Given the description of an element on the screen output the (x, y) to click on. 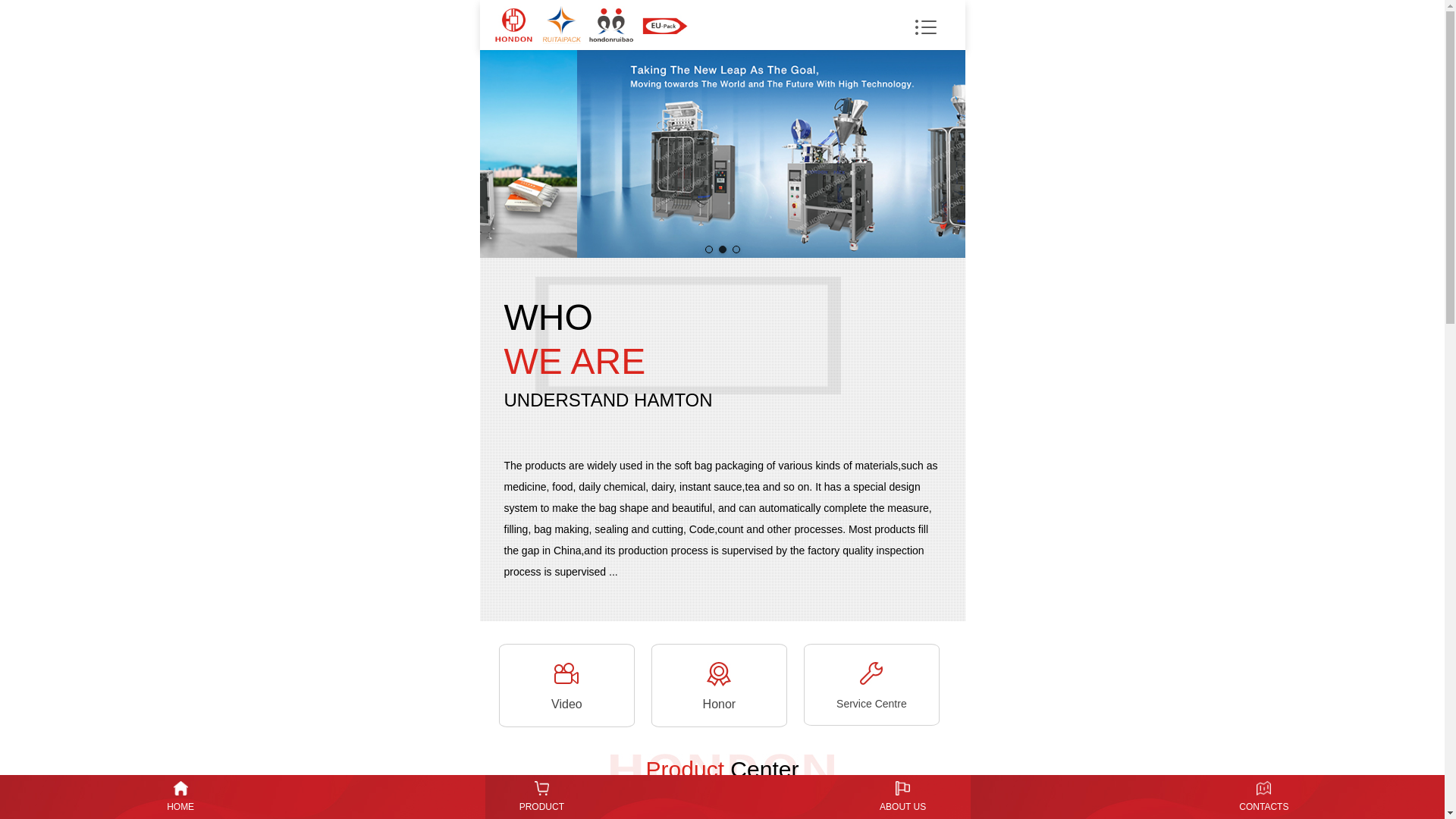
ABOUT US (902, 796)
PRODUCT (541, 796)
HOME (180, 796)
